Given the description of an element on the screen output the (x, y) to click on. 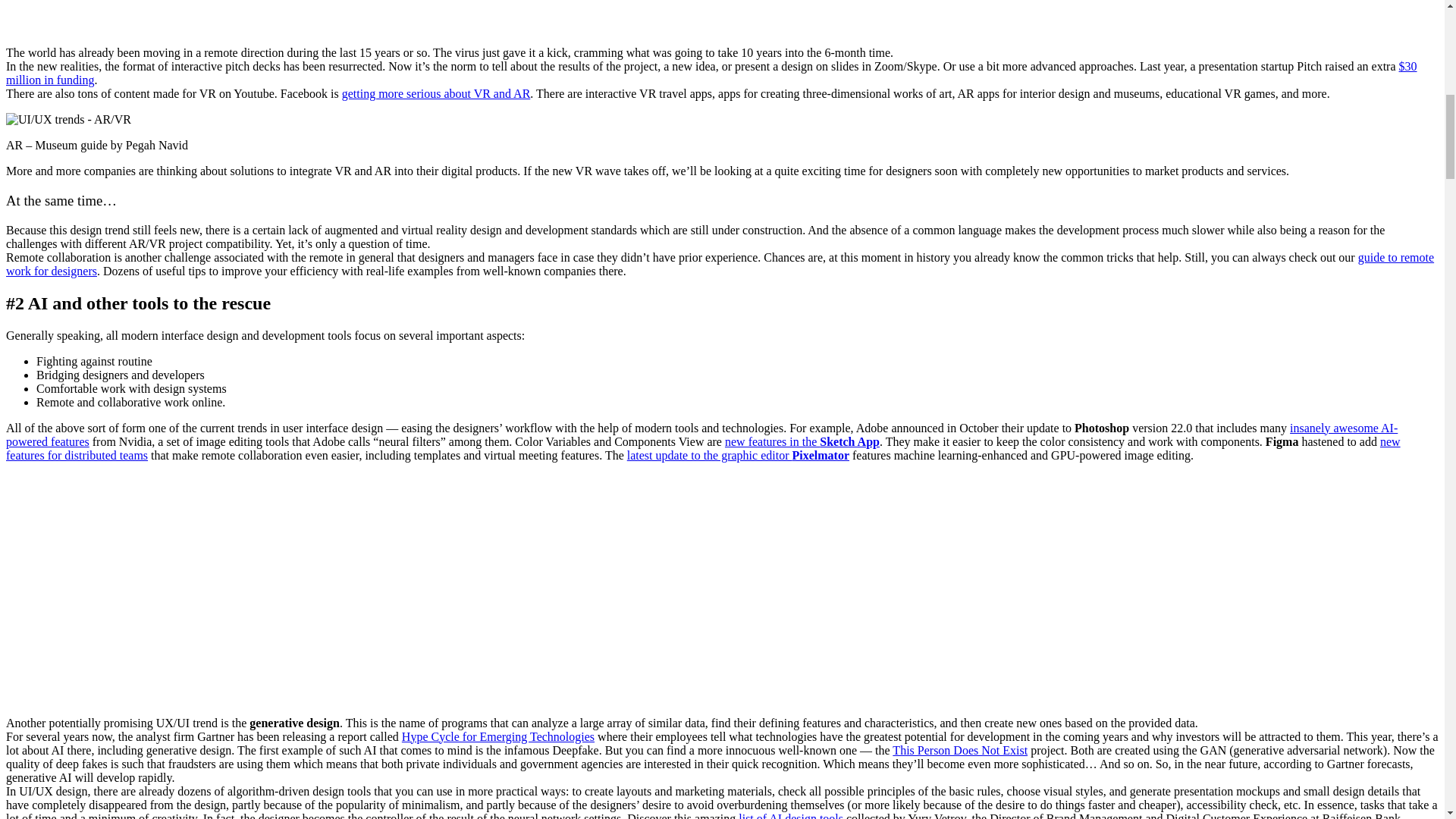
This Person Does Not Exist (959, 748)
getting more serious about VR and AR (436, 92)
new features for distributed teams (702, 447)
Hype Cycle for Emerging Technologies (497, 735)
insanely awesome AI-powered features (701, 434)
latest update to the graphic editor Pixelmator (737, 454)
list of AI design tools (790, 815)
new features in the Sketch App (802, 440)
